Given the description of an element on the screen output the (x, y) to click on. 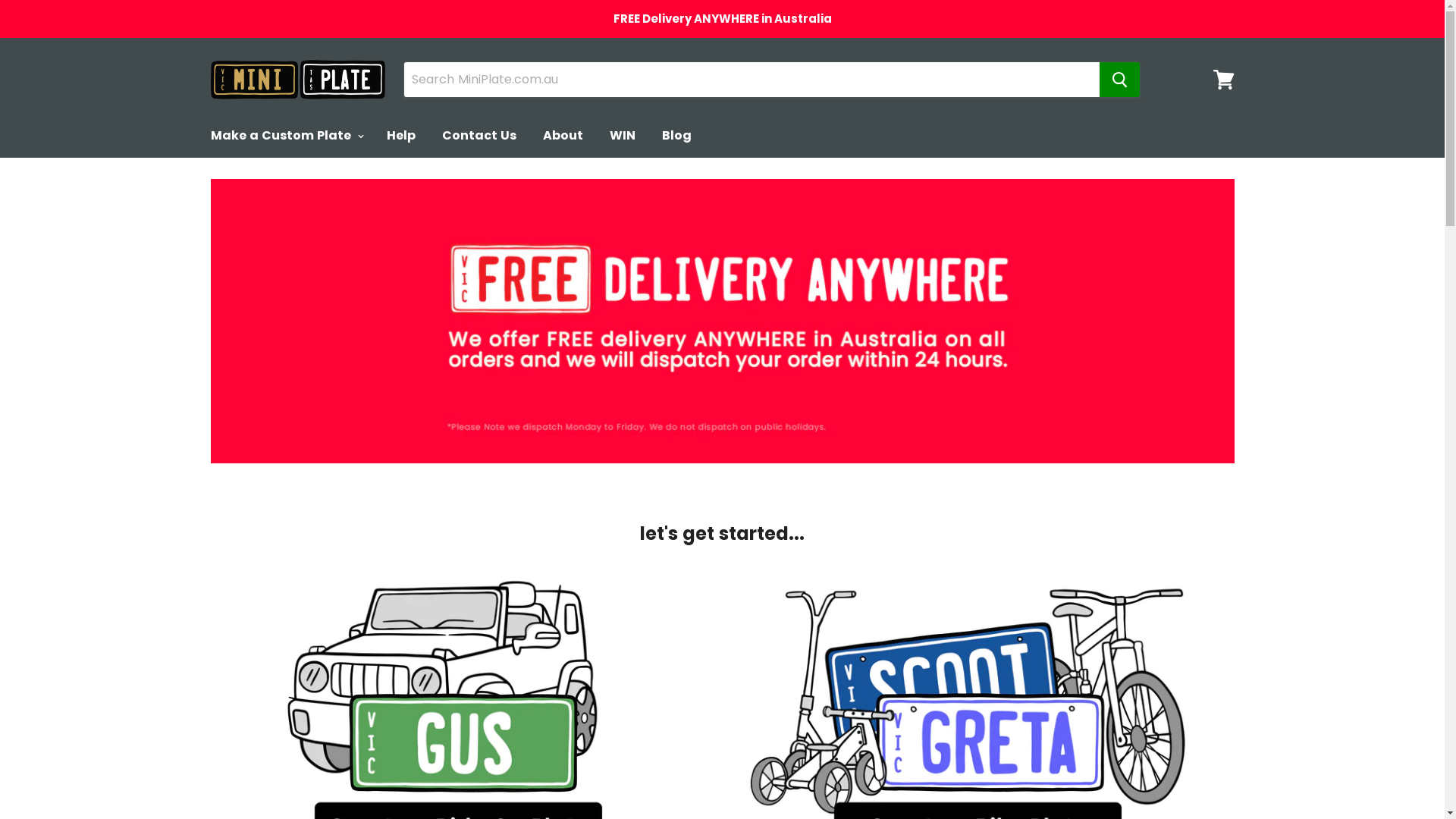
Blog Element type: text (676, 135)
About Element type: text (561, 135)
View cart Element type: text (1223, 79)
WIN Element type: text (621, 135)
Help Element type: text (400, 135)
Make a Custom Plate Element type: text (284, 135)
Contact Us Element type: text (478, 135)
